Given the description of an element on the screen output the (x, y) to click on. 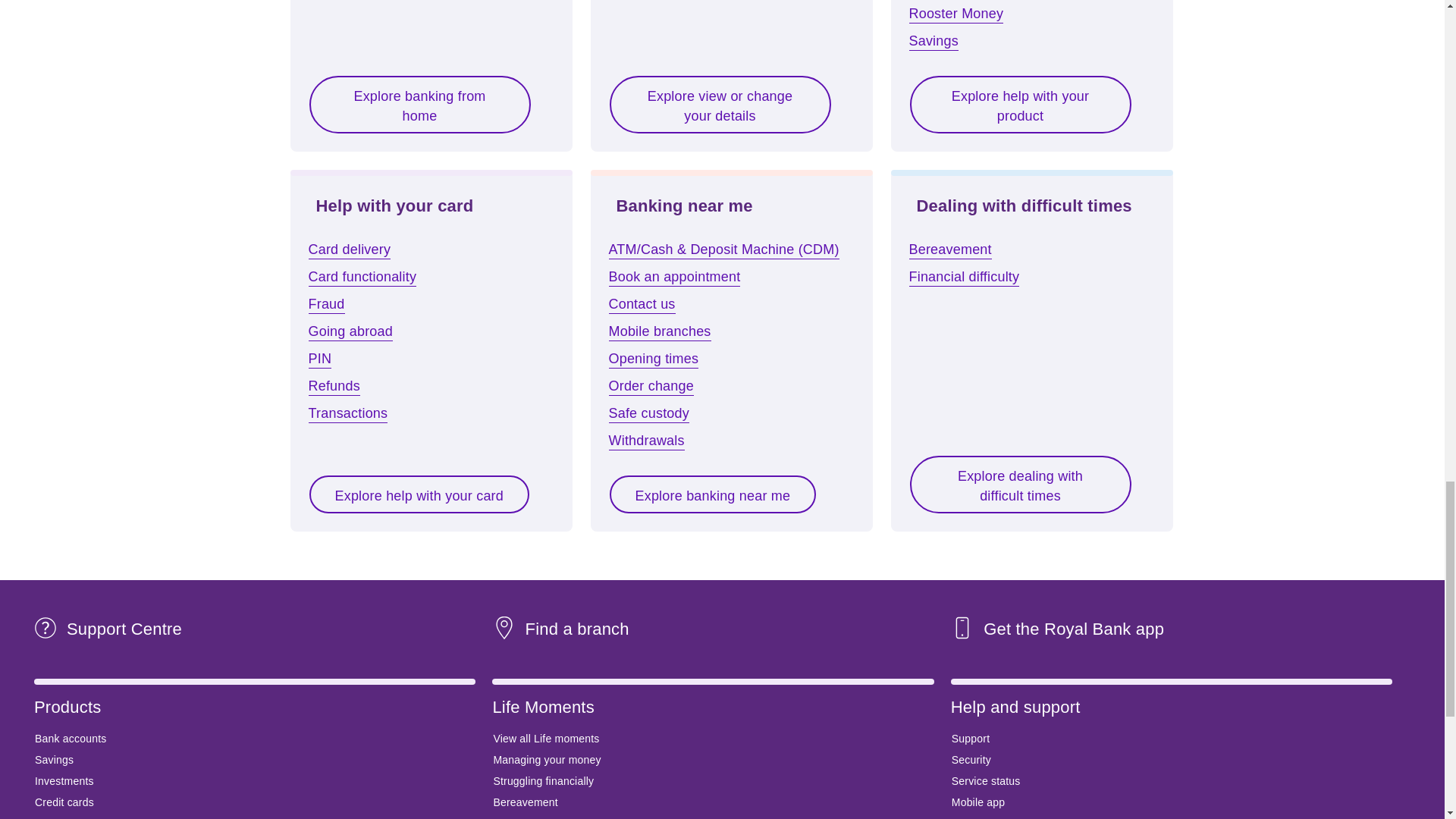
Explore view or change your details (719, 104)
Explore help with your card (418, 493)
Explore banking near me (712, 493)
Explore dealing with difficult times (1019, 484)
Explore banking from home (419, 104)
Explore help with your product (1019, 104)
